Given the description of an element on the screen output the (x, y) to click on. 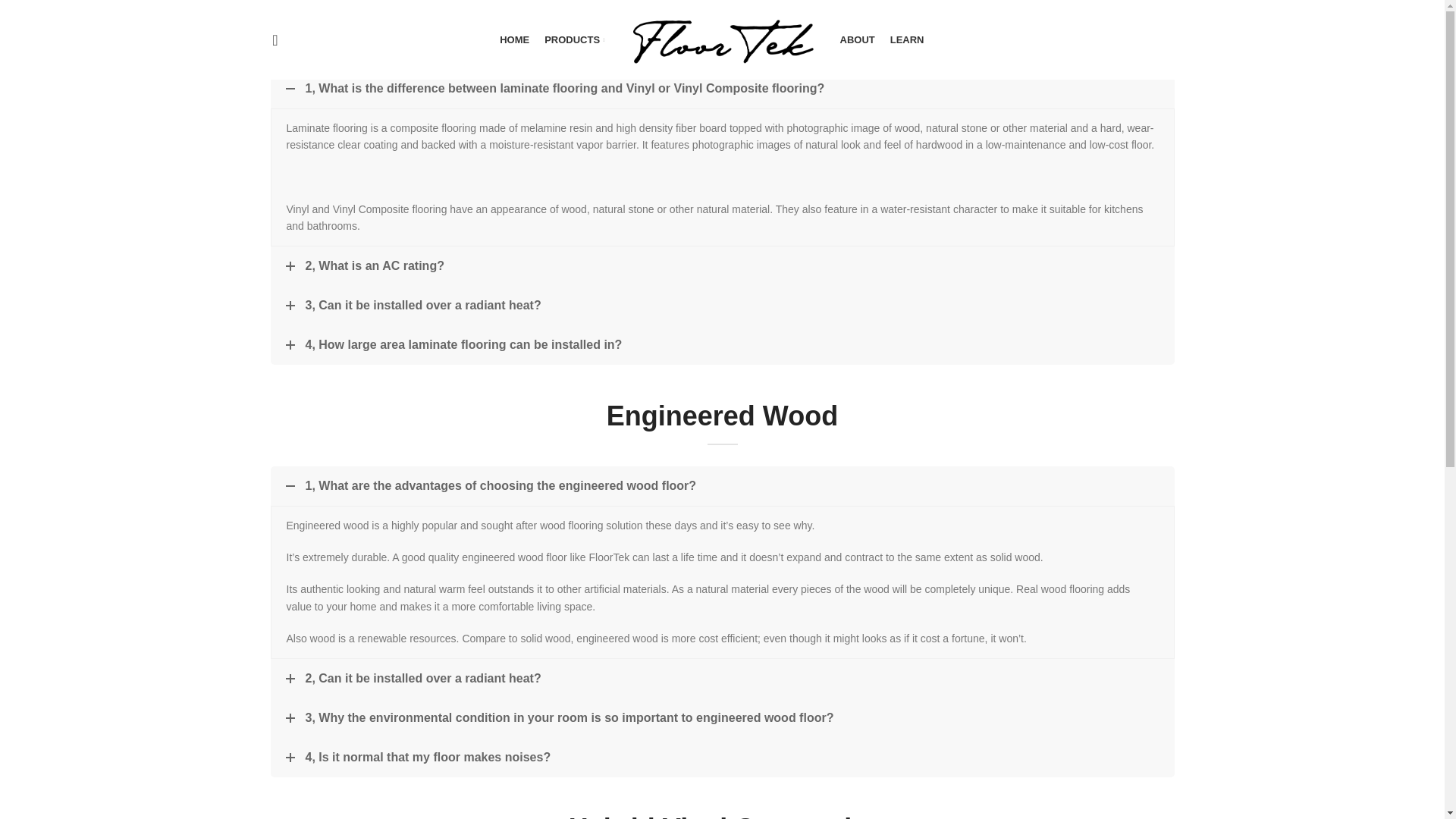
2, What is an AC rating? (721, 265)
3, Can it be installed over a radiant heat? (721, 305)
HOME (514, 39)
ABOUT (857, 39)
LEARN (906, 39)
4, How large area laminate flooring can be installed in? (721, 344)
PRODUCTS (574, 39)
